Given the description of an element on the screen output the (x, y) to click on. 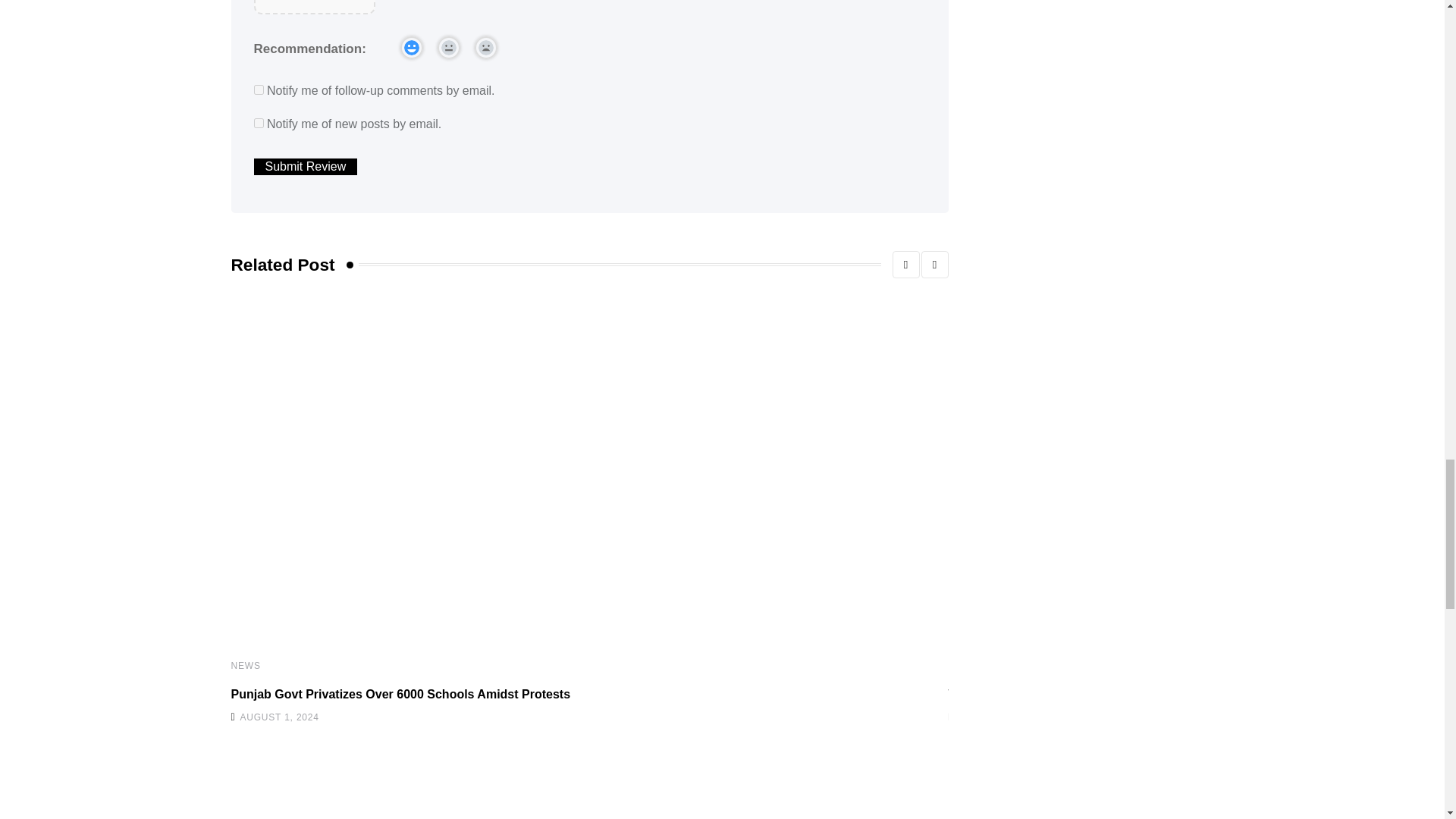
subscribe (258, 90)
Submit Review (304, 166)
subscribe (258, 122)
